Given the description of an element on the screen output the (x, y) to click on. 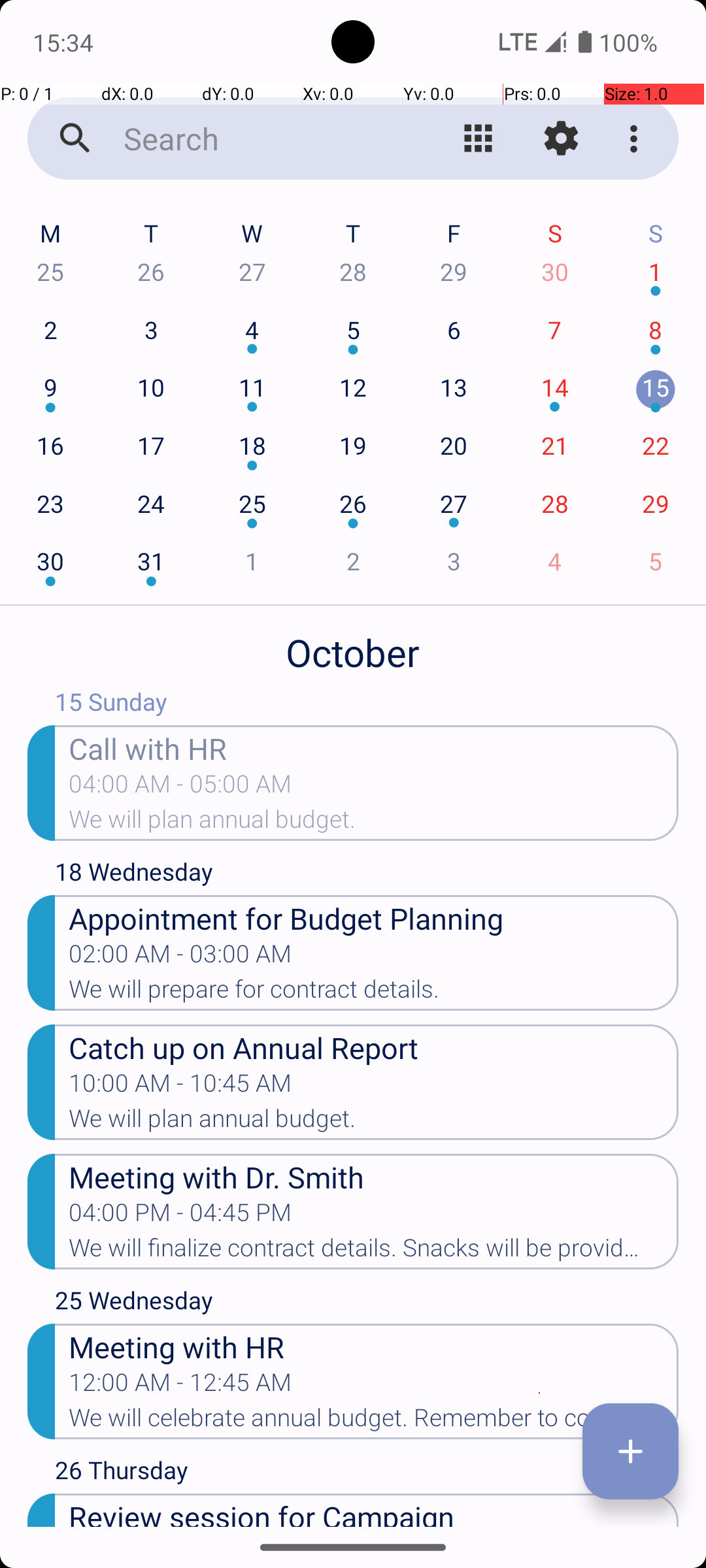
25 Wednesday Element type: android.widget.TextView (366, 1303)
26 Thursday Element type: android.widget.TextView (366, 1473)
04:00 AM - 05:00 AM Element type: android.widget.TextView (179, 787)
We will plan annual budget. Element type: android.widget.TextView (373, 822)
02:00 AM - 03:00 AM Element type: android.widget.TextView (179, 957)
We will prepare for contract details. Element type: android.widget.TextView (373, 992)
10:00 AM - 10:45 AM Element type: android.widget.TextView (179, 1086)
04:00 PM - 04:45 PM Element type: android.widget.TextView (179, 1216)
We will finalize contract details. Snacks will be provided. Element type: android.widget.TextView (373, 1251)
12:00 AM - 12:45 AM Element type: android.widget.TextView (179, 1386)
We will celebrate annual budget. Remember to confirm attendance. Element type: android.widget.TextView (373, 1421)
